Given the description of an element on the screen output the (x, y) to click on. 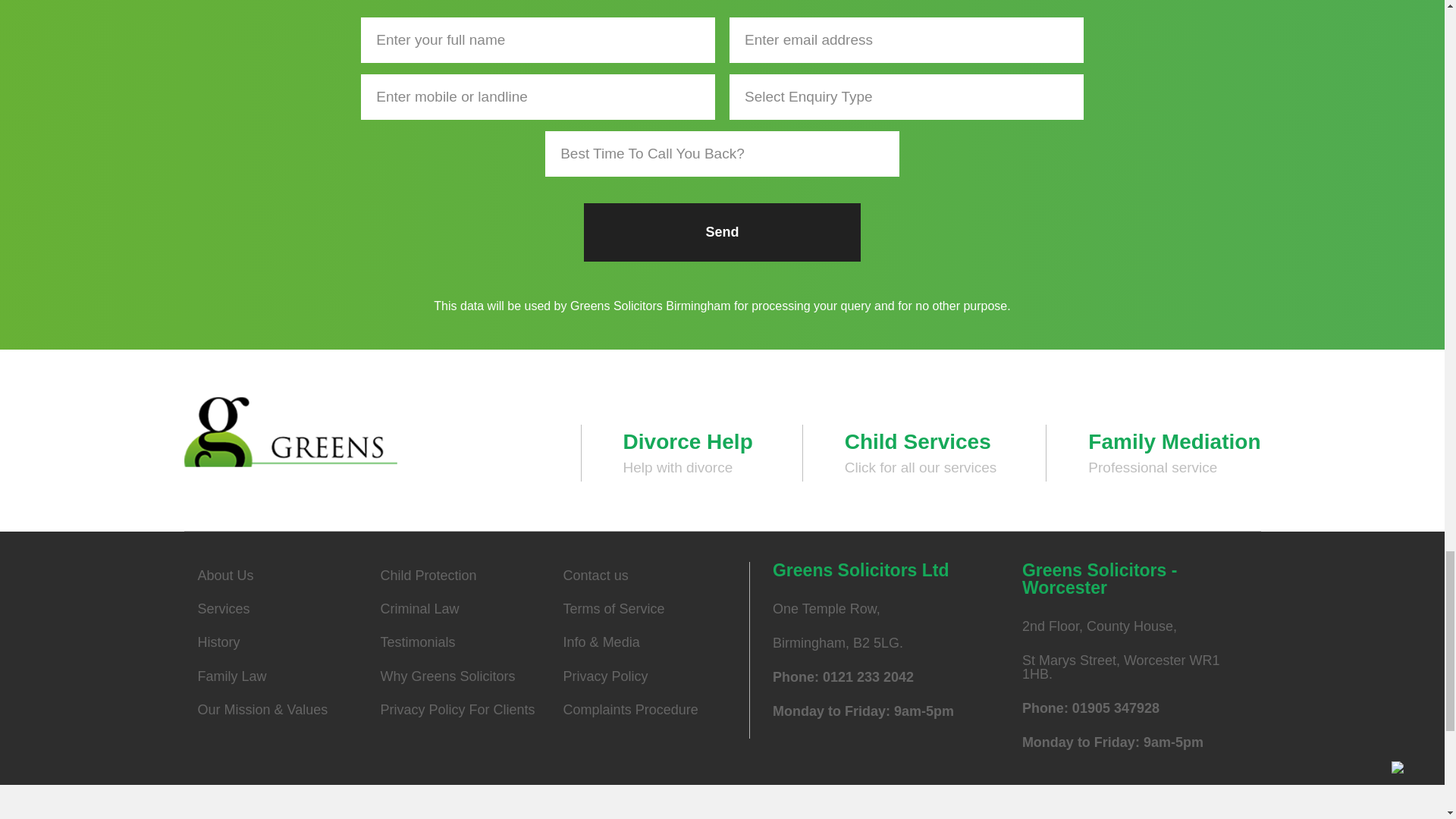
Send (721, 232)
